Given the description of an element on the screen output the (x, y) to click on. 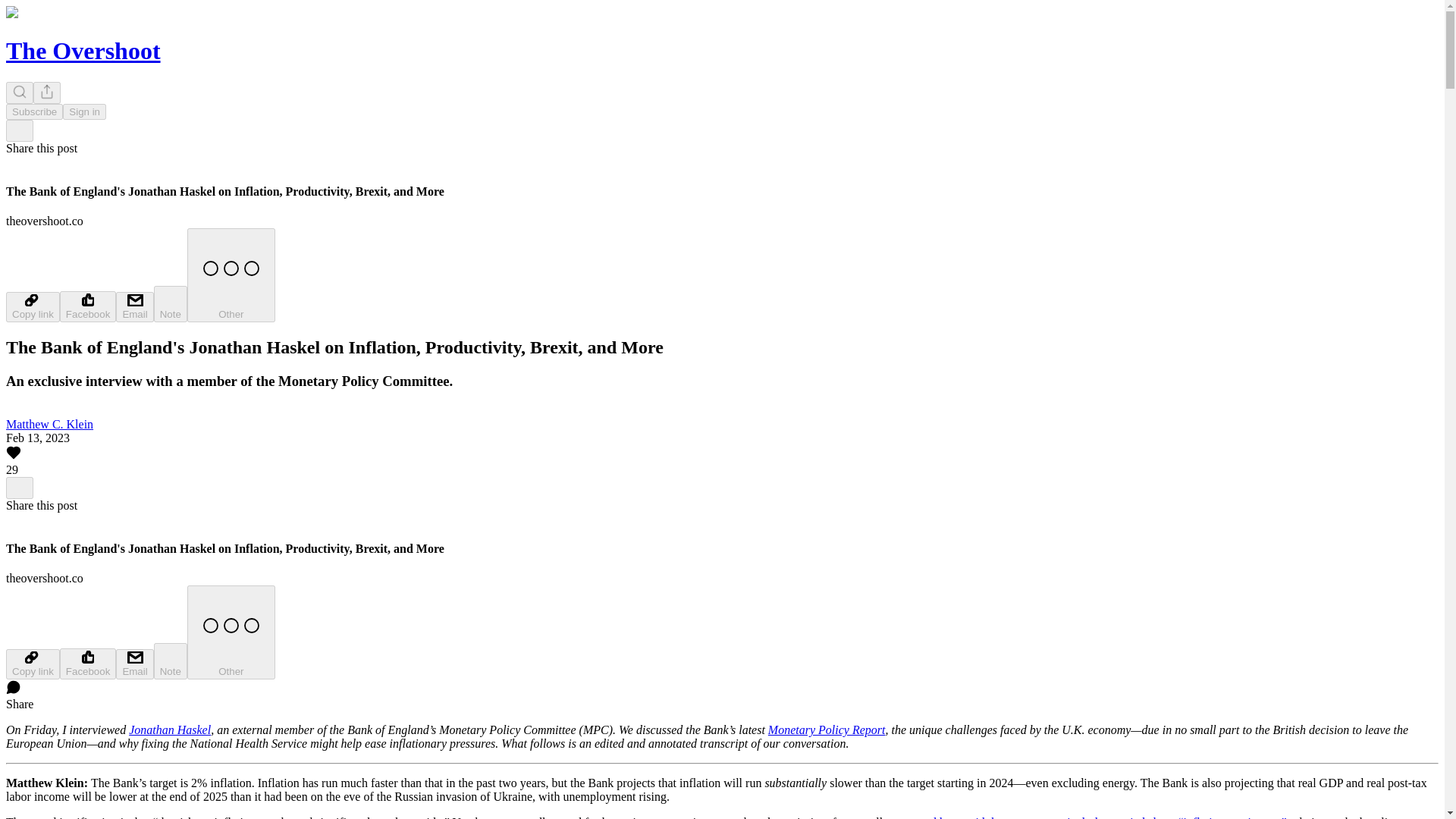
Note (170, 303)
Email (134, 664)
Copy link (32, 306)
Subscribe (33, 111)
Facebook (87, 306)
Other (231, 632)
Sign in (84, 111)
Jonathan Haskel (170, 729)
Matthew C. Klein (49, 423)
Copy link (32, 664)
